Given the description of an element on the screen output the (x, y) to click on. 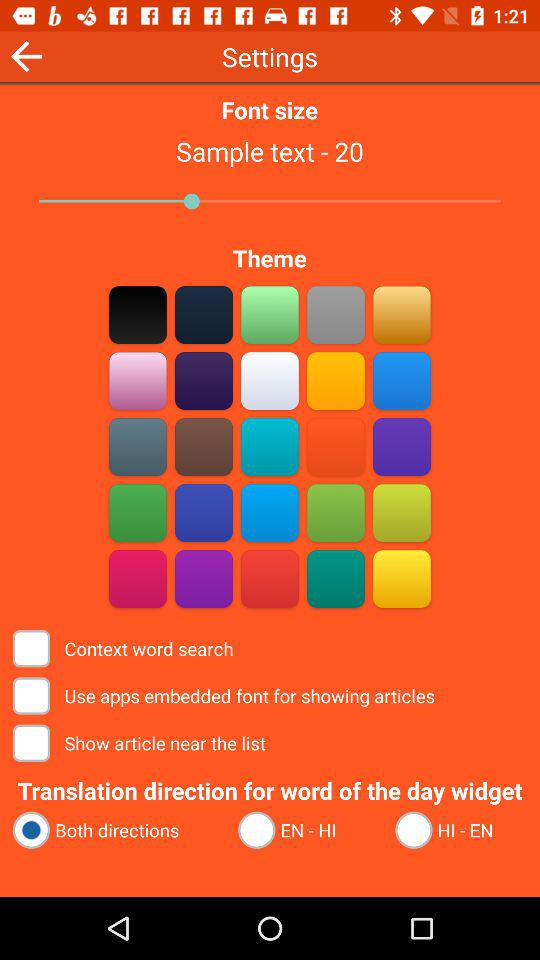
go to context word search (401, 578)
